Given the description of an element on the screen output the (x, y) to click on. 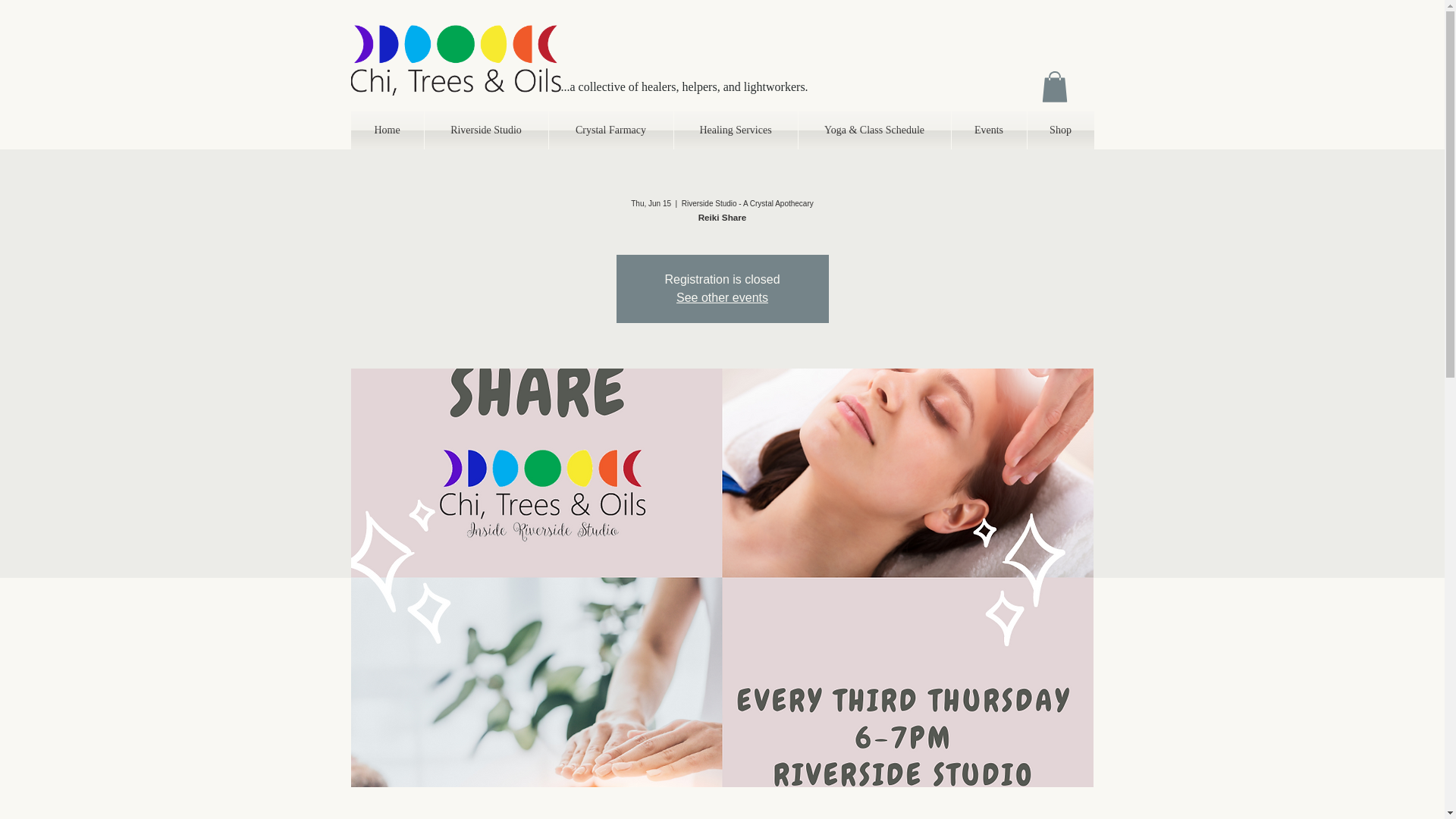
Home (386, 130)
Healing Services (734, 130)
Shop (1059, 130)
See other events (722, 297)
Riverside Studio (486, 130)
Crystal Farmacy (610, 130)
Events (988, 130)
